Given the description of an element on the screen output the (x, y) to click on. 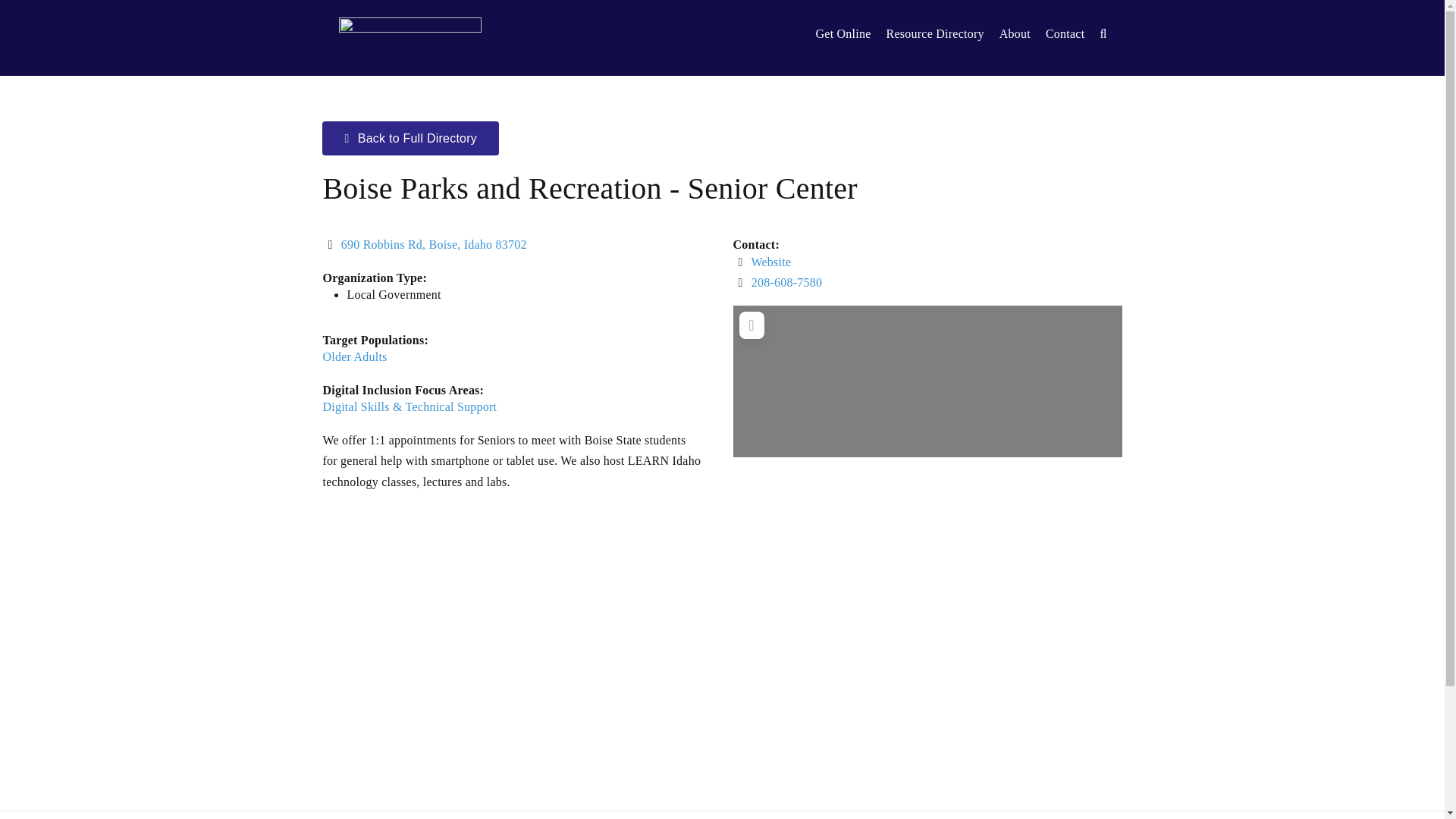
About (1021, 33)
Back to Full Directory (410, 138)
Resource Directory (942, 33)
Get Online (850, 33)
208-608-7580 (786, 282)
digi-skills-logo (410, 33)
Contact (1072, 33)
Older Adults (354, 356)
View on map (433, 244)
Website (770, 261)
